Given the description of an element on the screen output the (x, y) to click on. 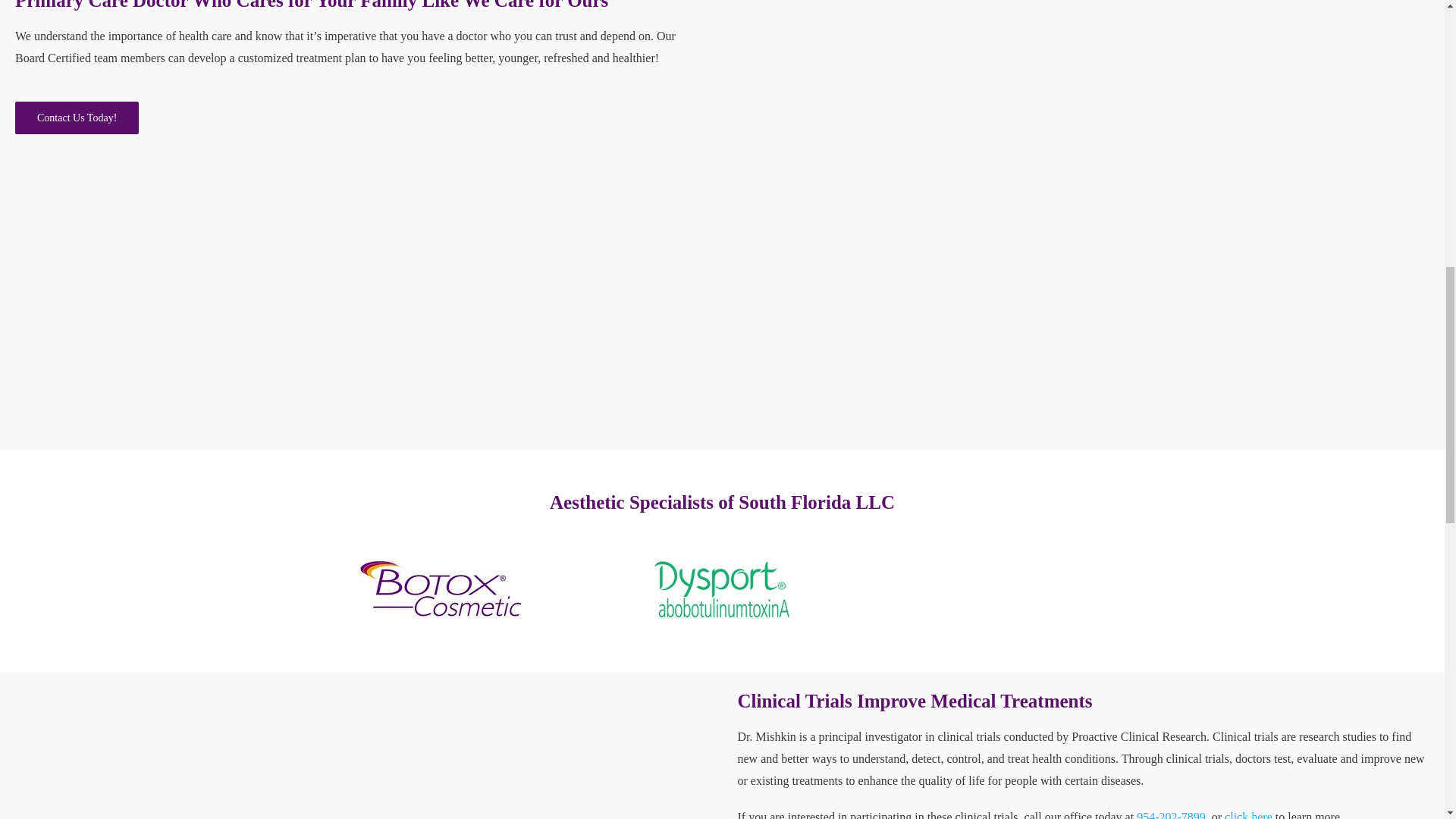
954-202-7899 (1171, 814)
click here (1248, 814)
Contact Us Today! (76, 117)
